Given the description of an element on the screen output the (x, y) to click on. 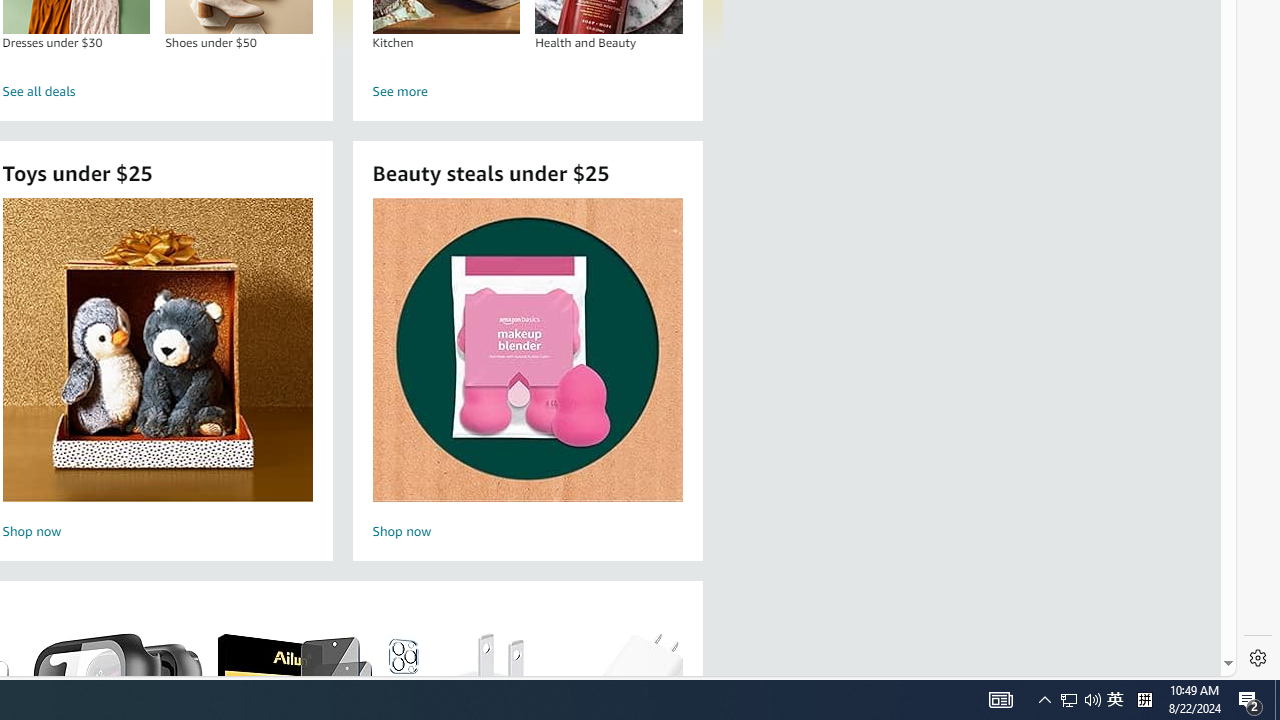
See all deals (1115, 699)
Beauty steals under $25 (157, 92)
Beauty steals under $25 Shop now (526, 349)
